Given the description of an element on the screen output the (x, y) to click on. 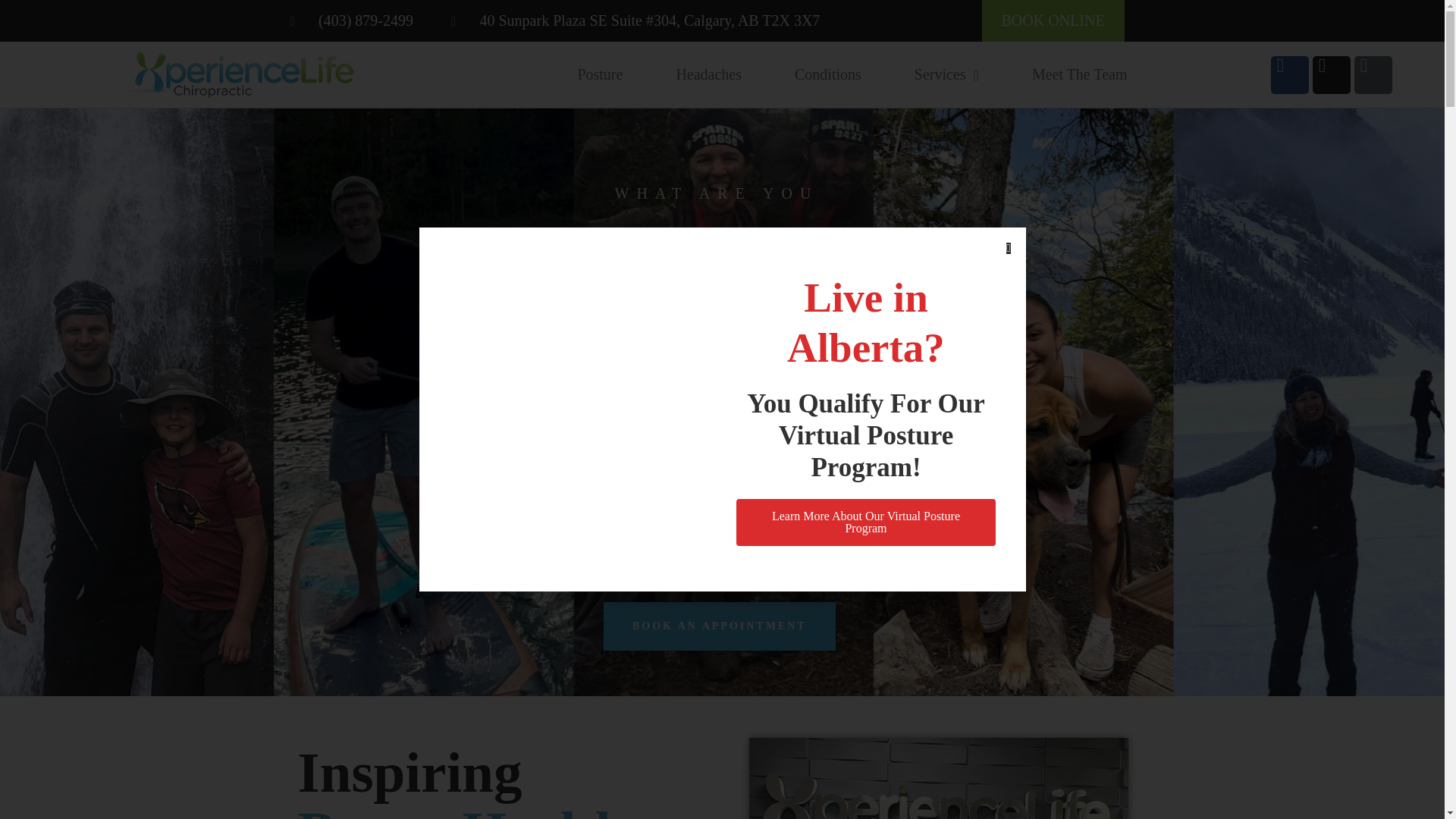
Headaches (708, 74)
Posture (599, 74)
BOOK ONLINE (1052, 20)
BOOK AN APPOINTMENT (719, 625)
Meet The Team (1080, 74)
Services (947, 74)
Conditions (828, 74)
